Given the description of an element on the screen output the (x, y) to click on. 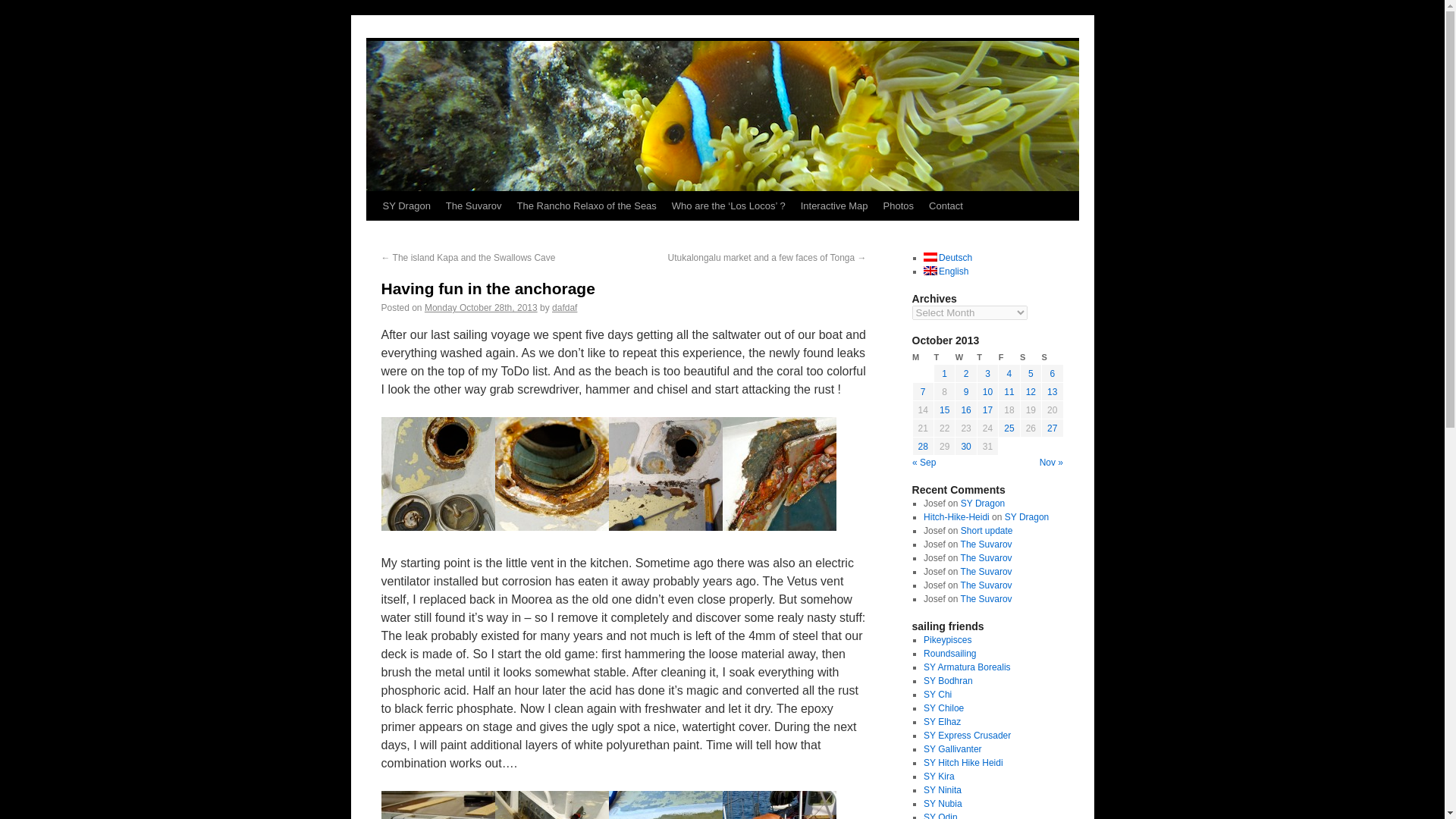
Interactive Map (834, 205)
Deutsch (947, 257)
Contact (946, 205)
View all posts by dafdaf (563, 307)
Deutsch (947, 257)
dafdaf (563, 307)
The Suvarov (473, 205)
English (945, 271)
English (945, 271)
Photos (898, 205)
Monday October 28th, 2013 (481, 307)
SY Dragon (406, 205)
09:21 PM (481, 307)
The Rancho Relaxo of the Seas (586, 205)
